Given the description of an element on the screen output the (x, y) to click on. 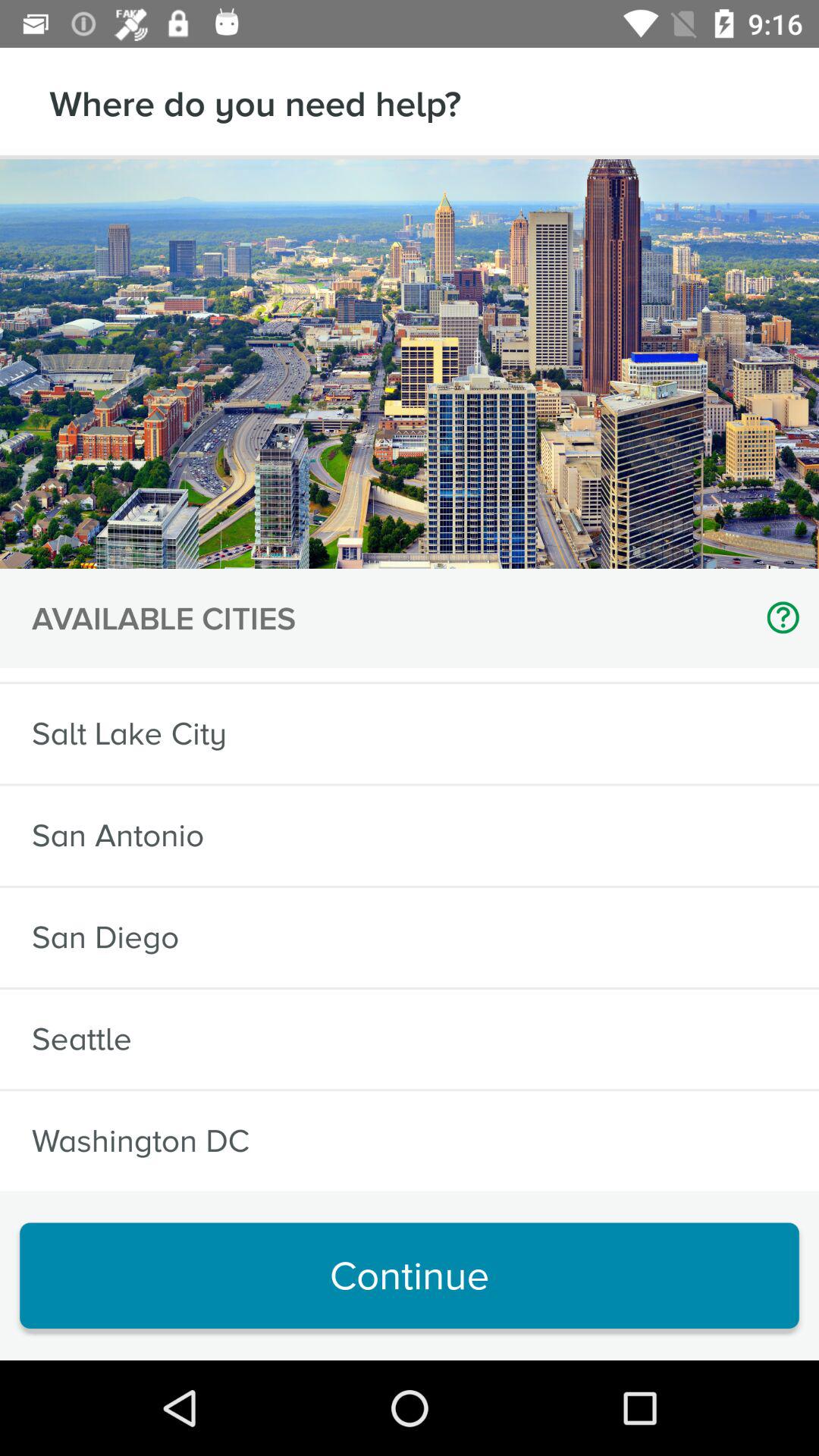
jump until the sf bay area icon (119, 674)
